Given the description of an element on the screen output the (x, y) to click on. 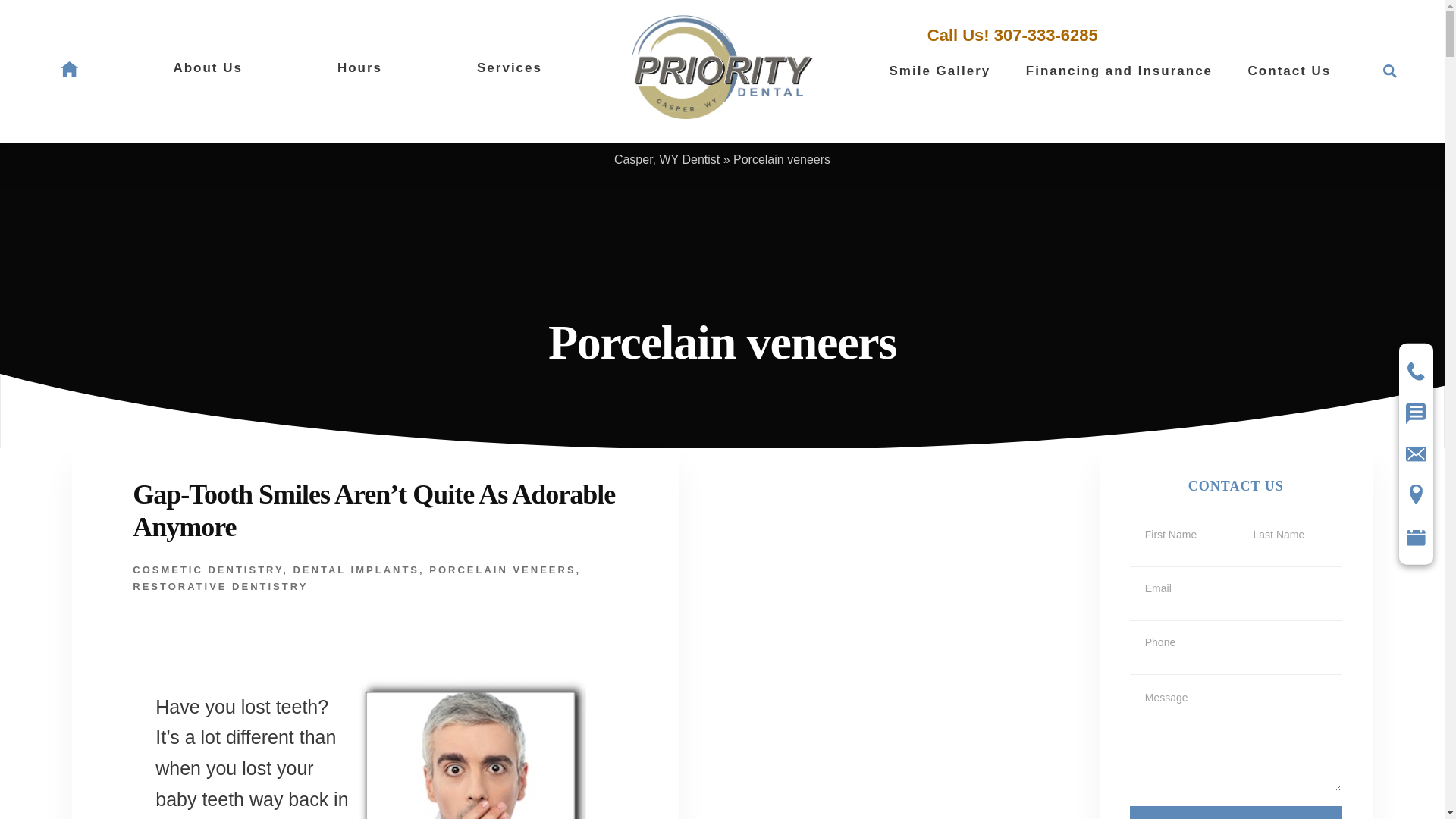
Smile Gallery (940, 71)
About Us (207, 67)
Hours (359, 67)
Call Us! 307-333-6285 (1012, 35)
Contact Us (1289, 71)
Services (509, 67)
Financing and Insurance (1119, 71)
